Given the description of an element on the screen output the (x, y) to click on. 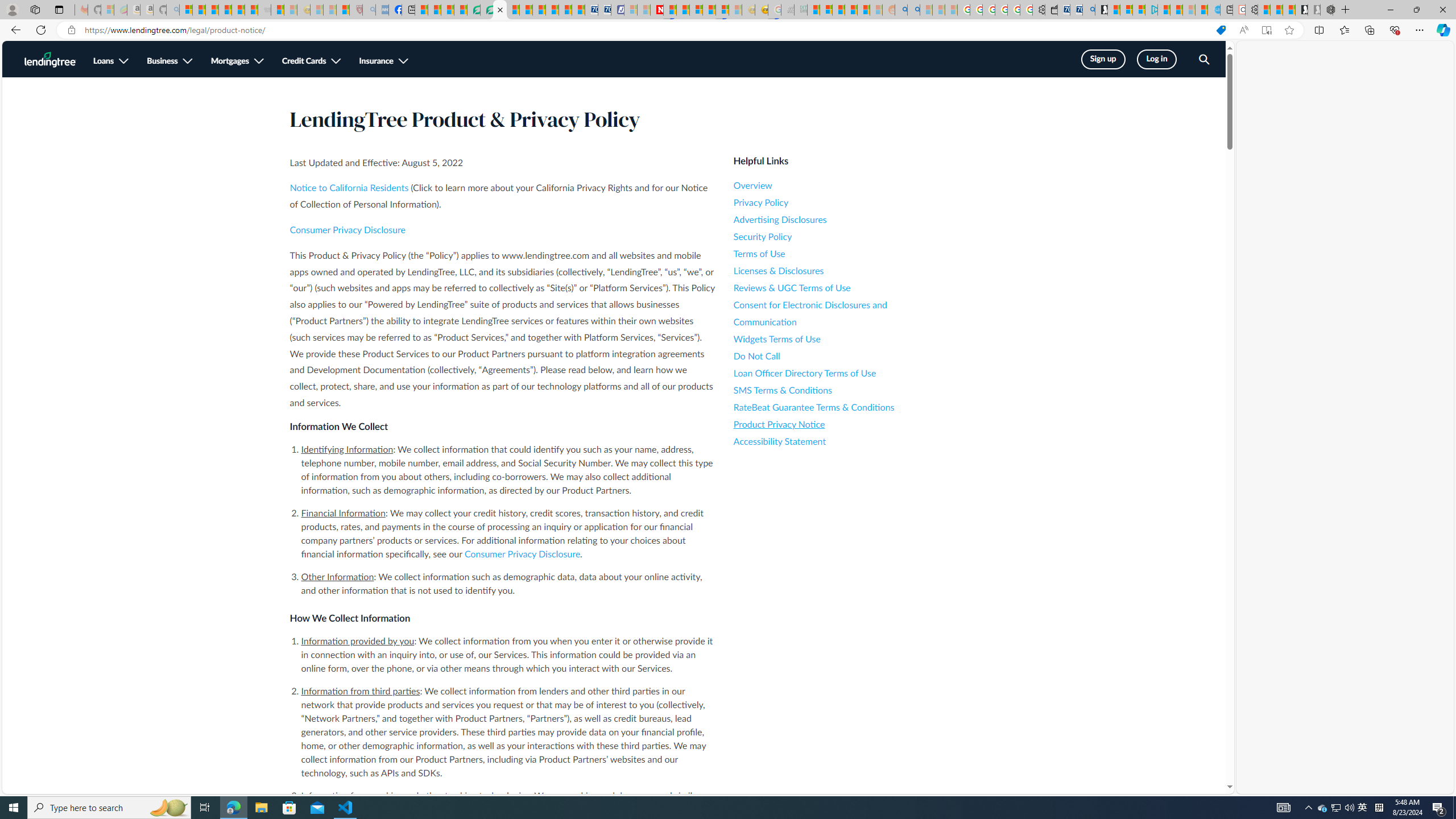
Accessibility Statement (836, 441)
Latest Politics News & Archive | Newsweek.com (656, 9)
Do Not Call (836, 356)
